Given the description of an element on the screen output the (x, y) to click on. 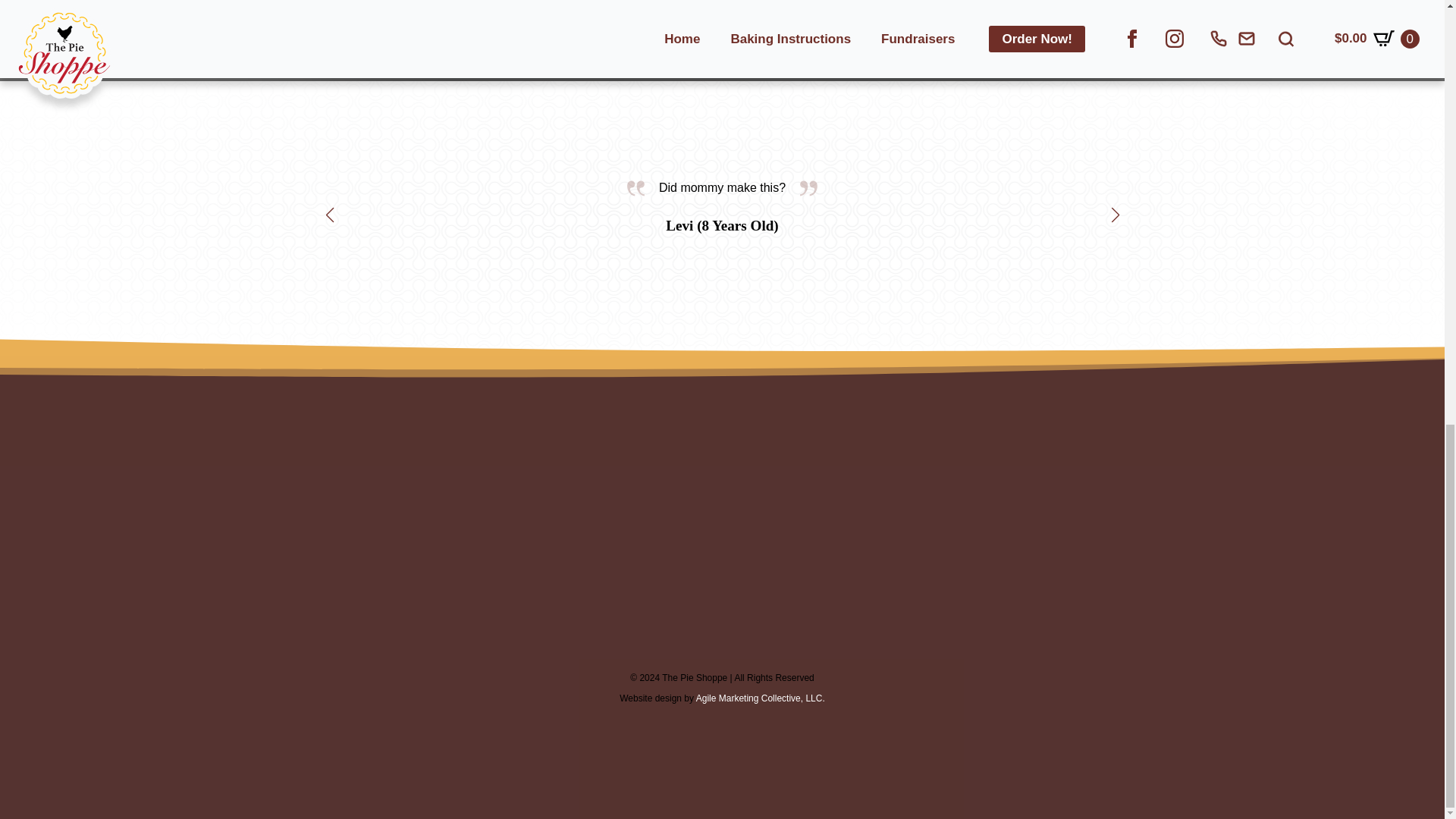
Return To The Store (986, 2)
